Given the description of an element on the screen output the (x, y) to click on. 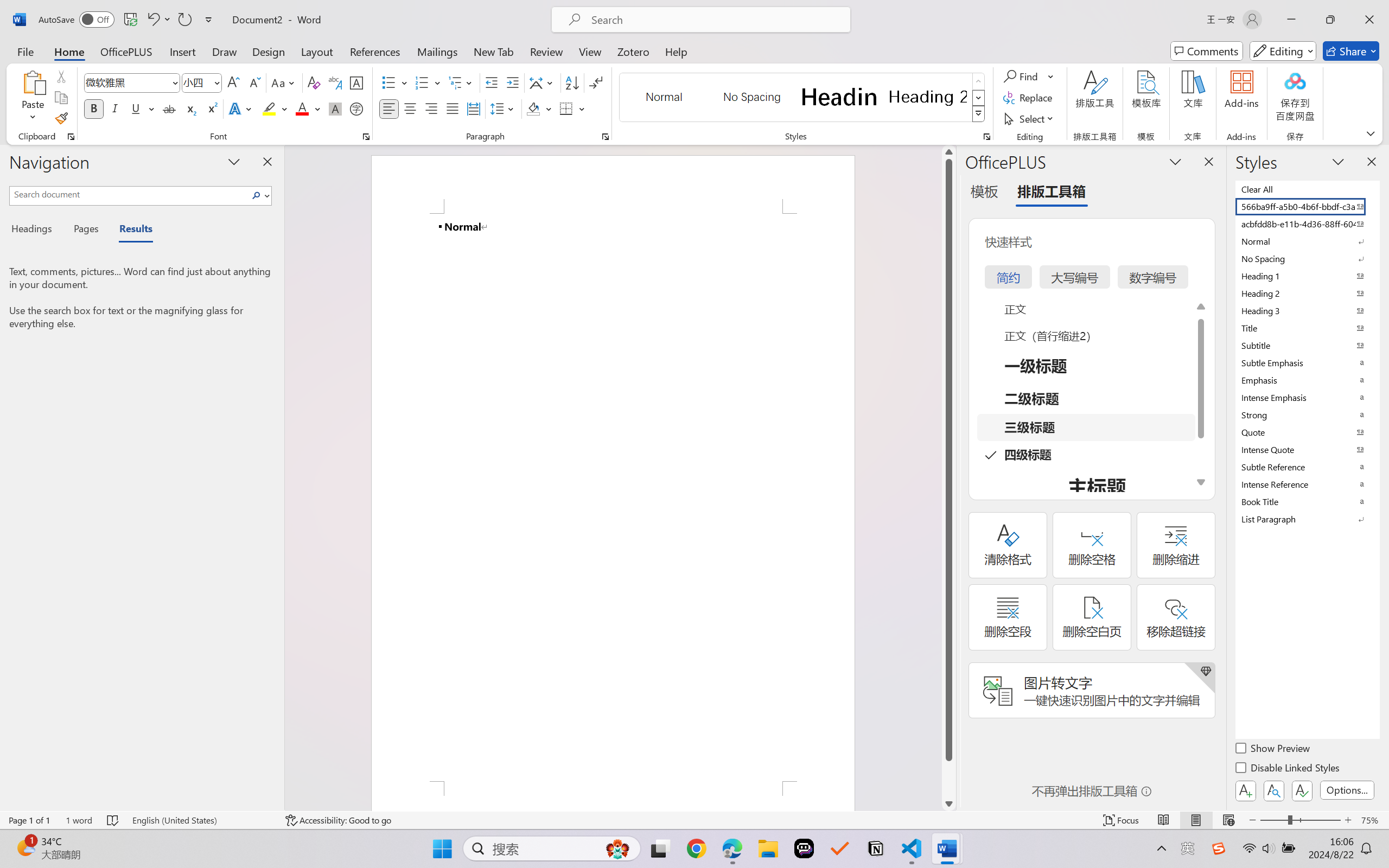
Class: NetUIButton (1301, 790)
OfficePLUS (126, 51)
Customize Quick Access Toolbar (208, 19)
Character Border (356, 82)
Styles... (986, 136)
Align Left (388, 108)
Increase Indent (512, 82)
Layout (316, 51)
List Paragraph (1306, 518)
New Tab (493, 51)
Web Layout (1228, 819)
